Given the description of an element on the screen output the (x, y) to click on. 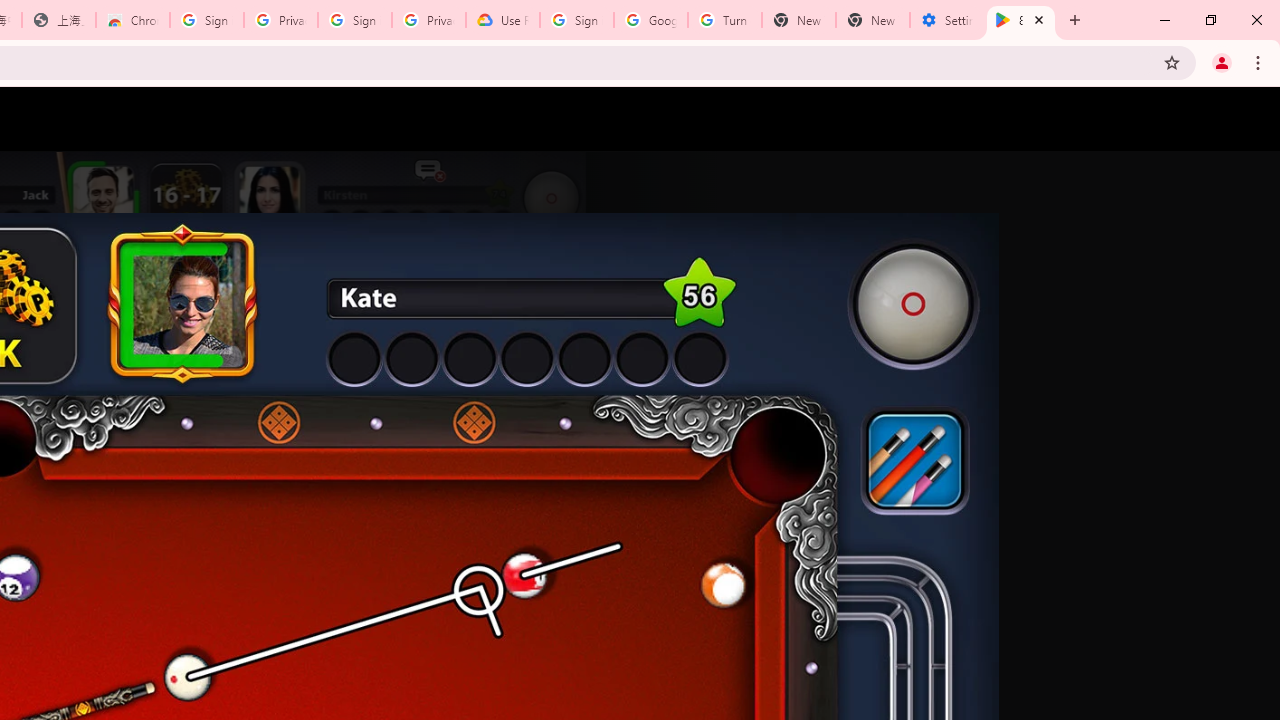
8 Ball Pool - Apps on Google Play (1021, 20)
Turn cookies on or off - Computer - Google Account Help (724, 20)
Settings - System (947, 20)
